Given the description of an element on the screen output the (x, y) to click on. 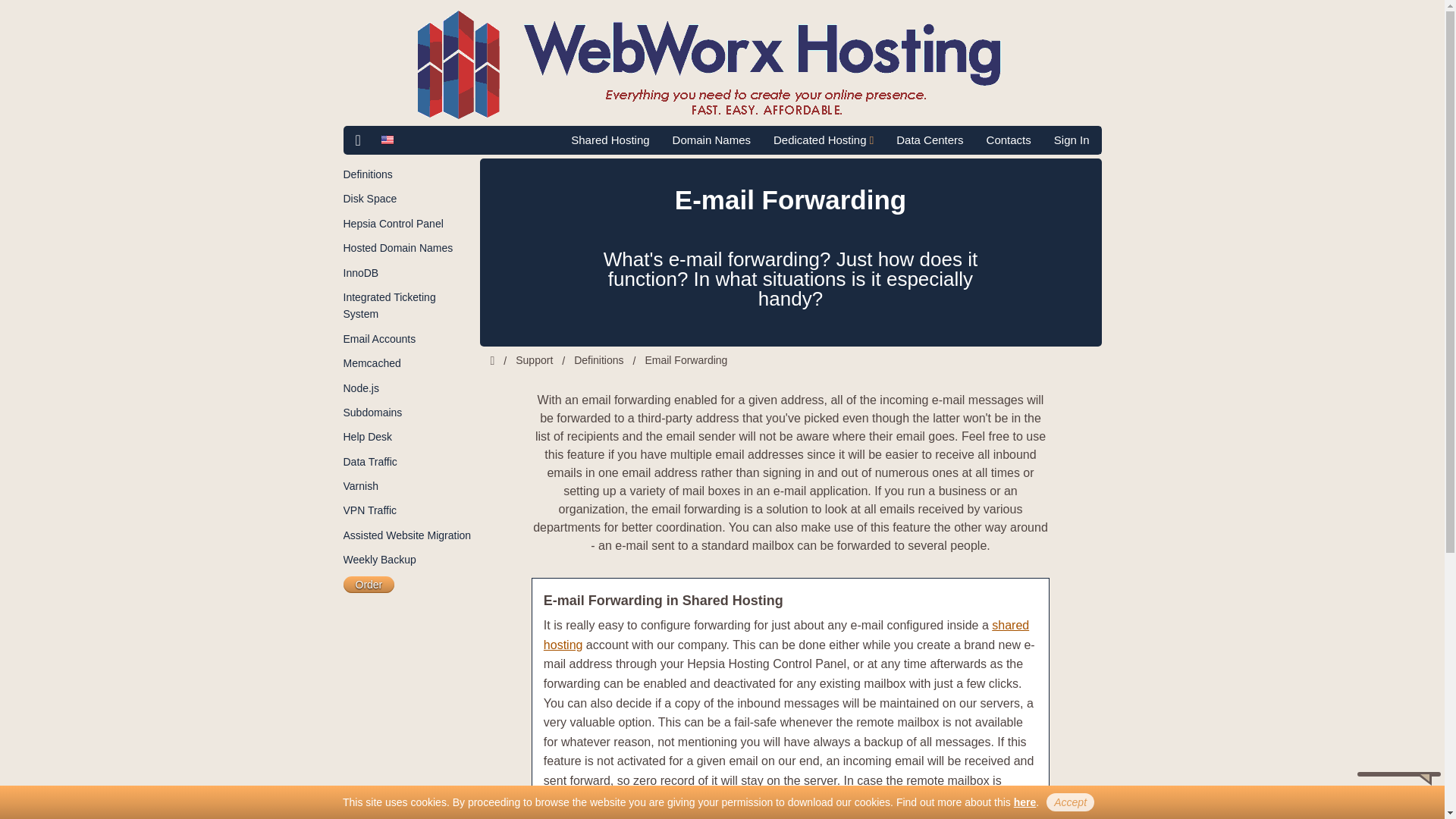
VPN Traffic (369, 510)
Definitions (366, 174)
Disk Space (369, 198)
Integrated Ticketing System (388, 305)
WebWorx Hosting (721, 64)
Shared Hosting (610, 139)
shared plans (786, 635)
Node.js (360, 387)
Data Centers (929, 139)
Assisted Website Migration (406, 535)
